Given the description of an element on the screen output the (x, y) to click on. 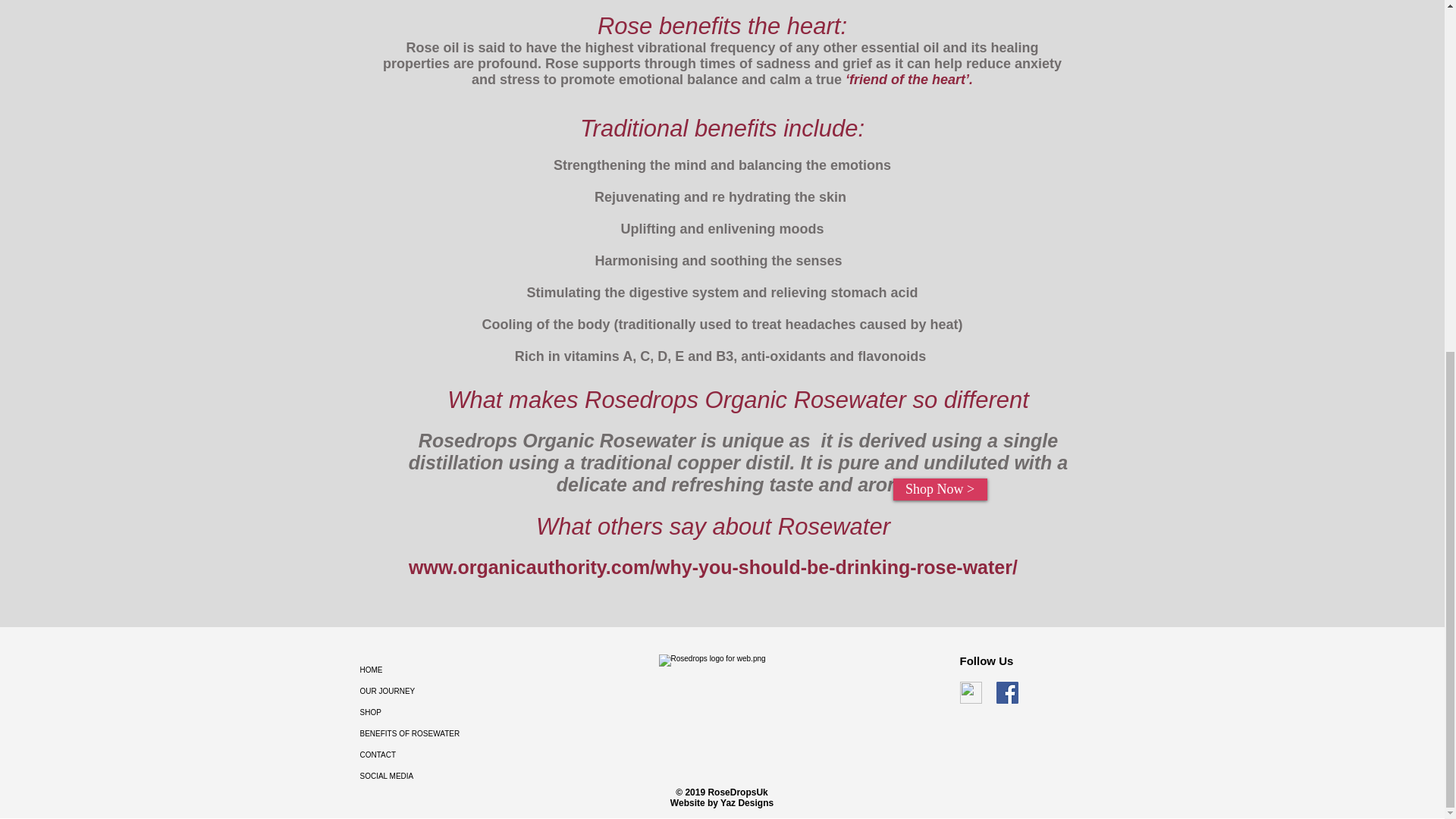
SHOP (450, 712)
SOCIAL MEDIA (450, 776)
HOME (450, 670)
BENEFITS OF ROSEWATER (450, 733)
Website by Yaz Designs (721, 802)
OUR JOURNEY (450, 690)
CONTACT (450, 754)
